Given the description of an element on the screen output the (x, y) to click on. 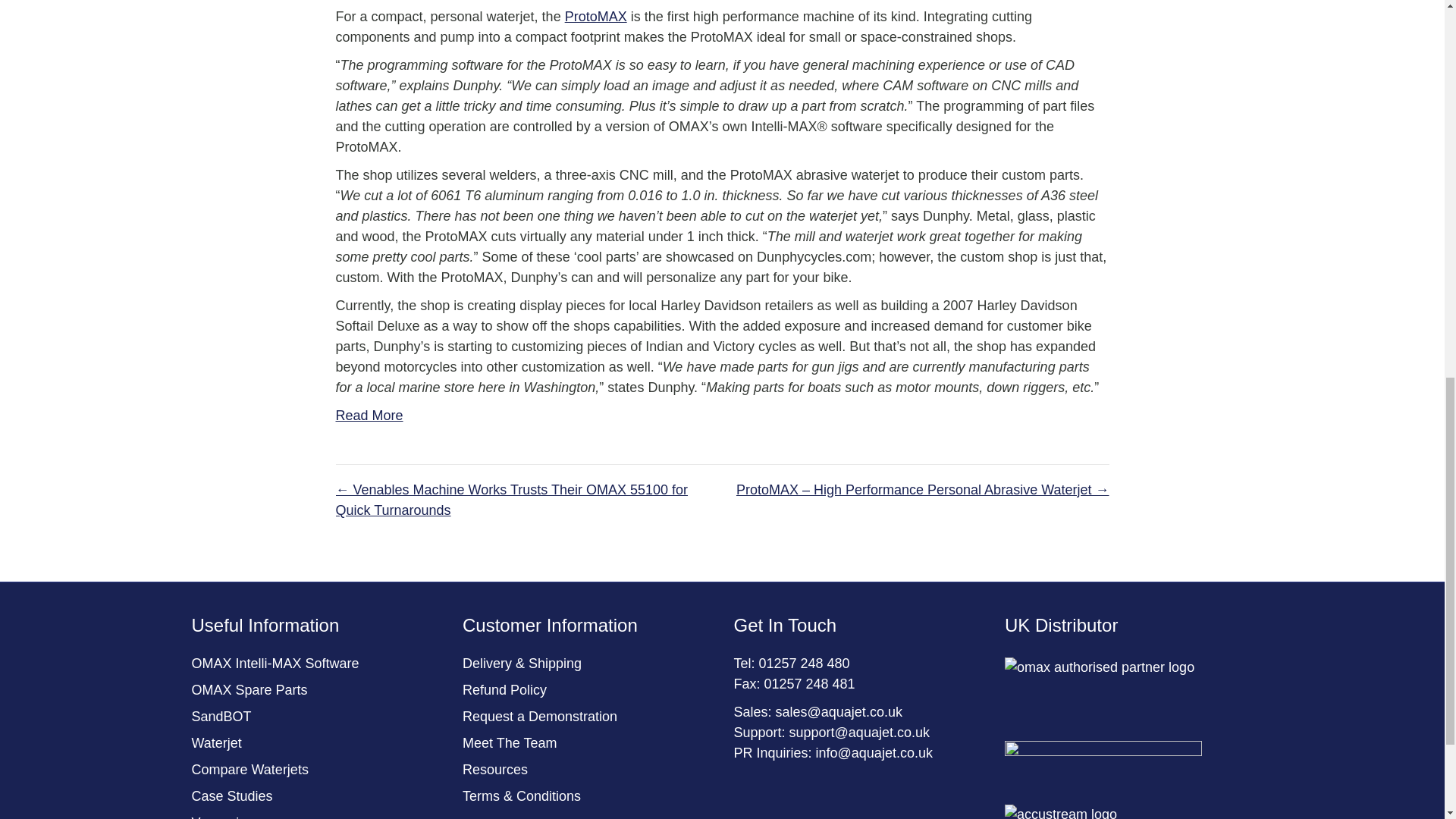
ProtoMAX (595, 16)
